Given the description of an element on the screen output the (x, y) to click on. 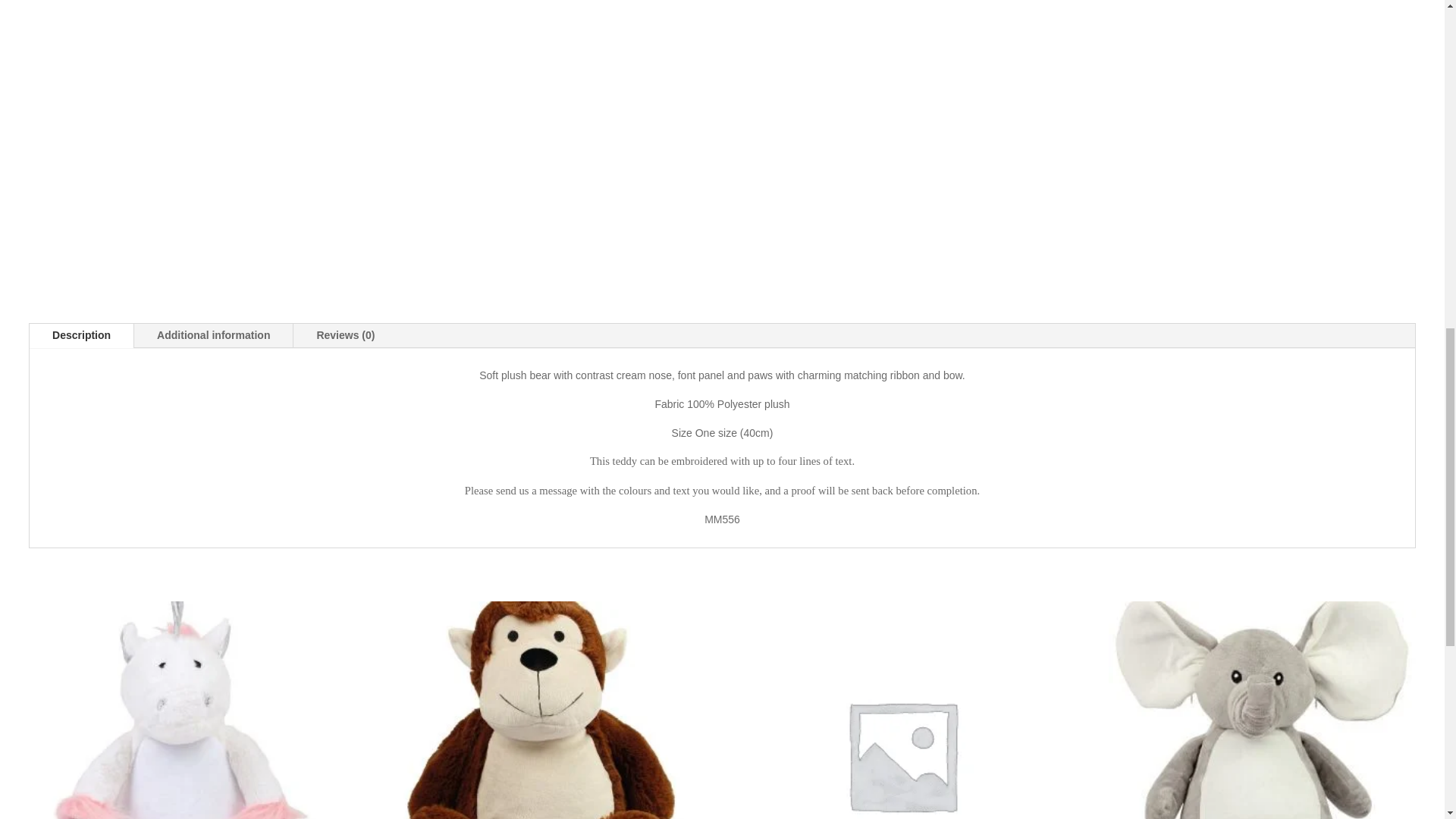
Description (81, 335)
Additional information (212, 335)
